Given the description of an element on the screen output the (x, y) to click on. 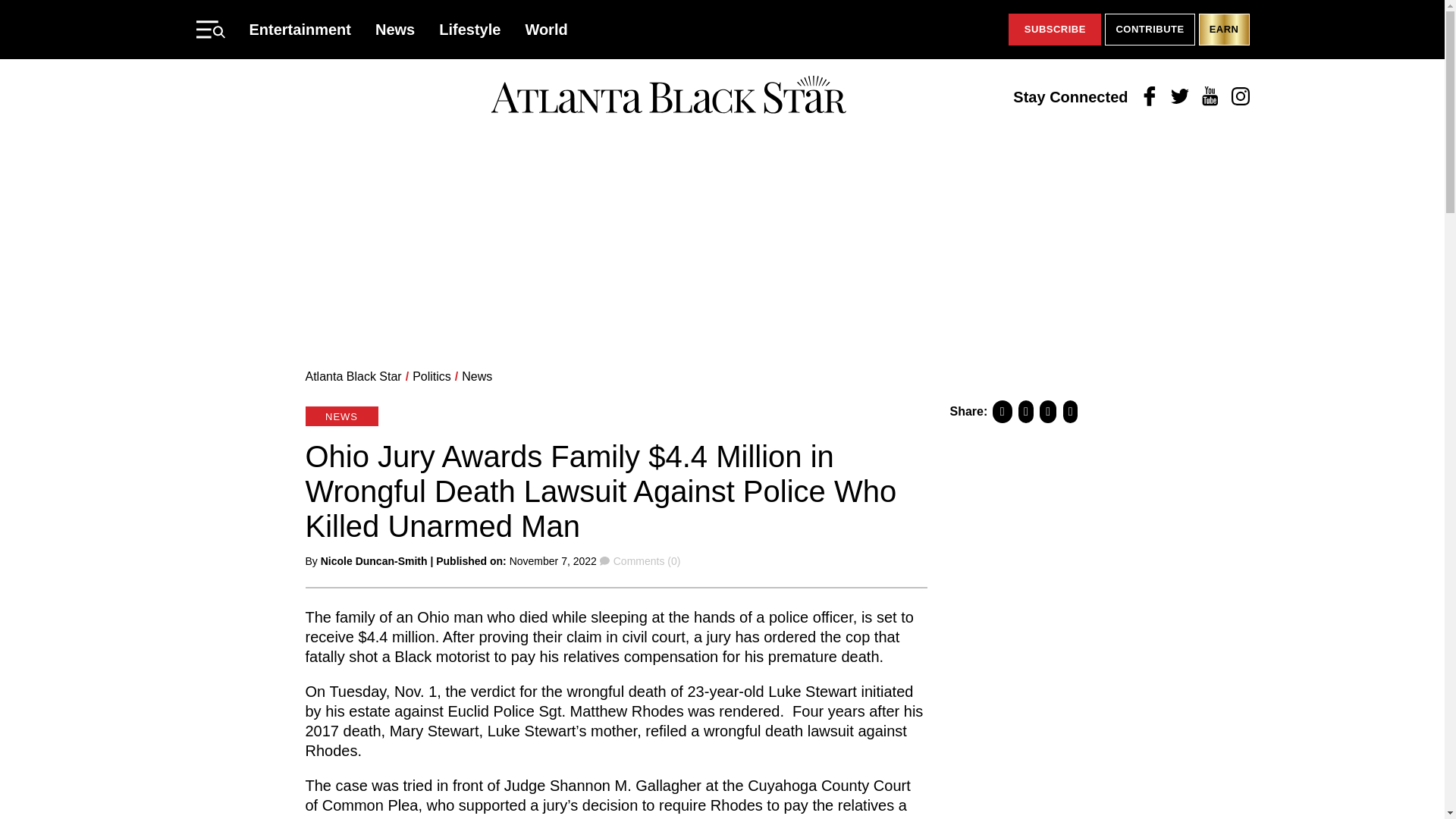
News (394, 29)
Atlanta Black Star (352, 376)
Atlanta Black Star (667, 96)
Politics (431, 376)
EARN (1223, 29)
SUBSCRIBE (1054, 29)
Entertainment (299, 29)
Go to Atlanta Black Star. (352, 376)
Go to the News Category archives. (476, 376)
Go to the Politics Category archives. (431, 376)
World (545, 29)
Lifestyle (469, 29)
CONTRIBUTE (1149, 29)
